Given the description of an element on the screen output the (x, y) to click on. 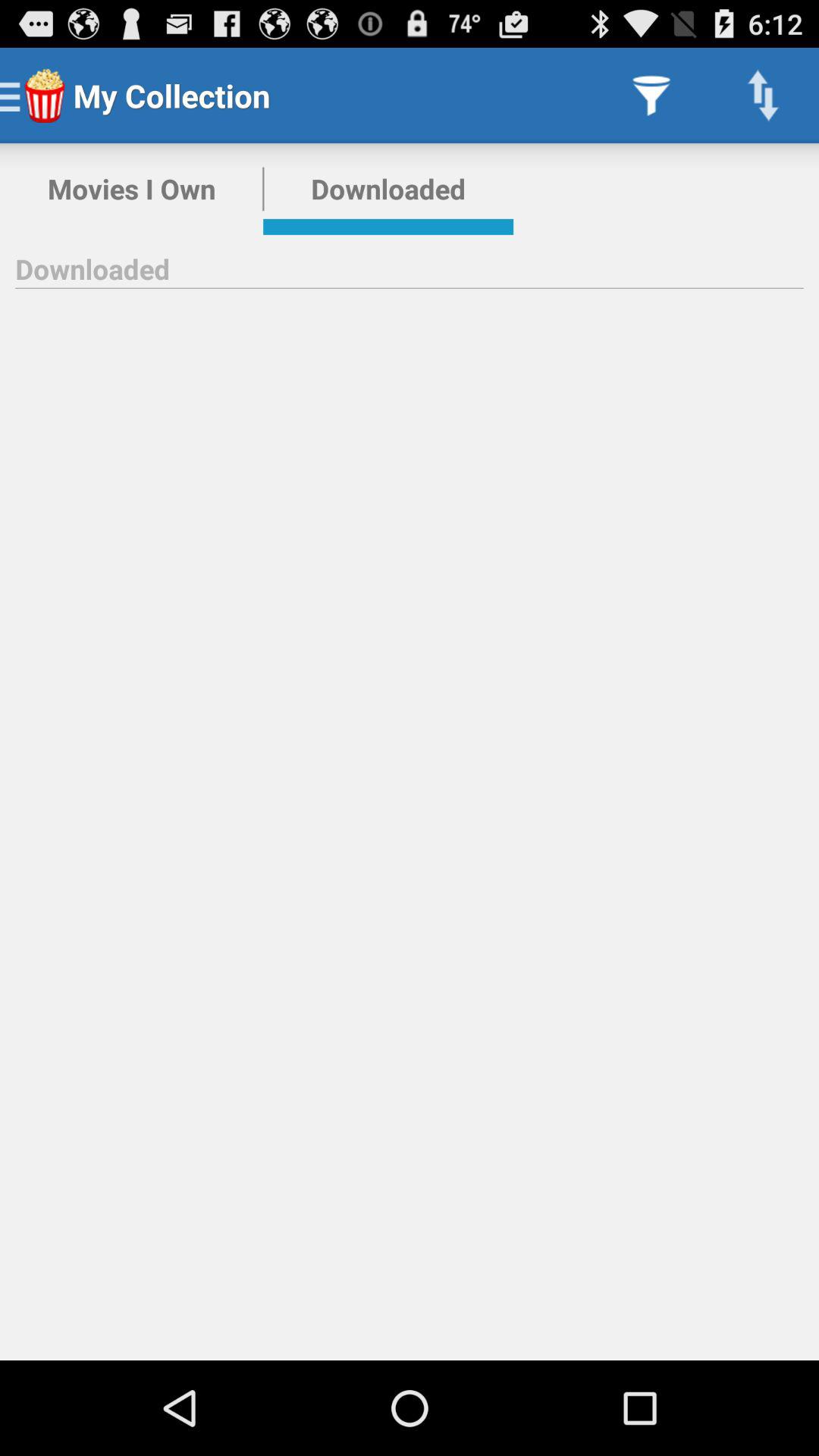
tap the icon to the right of movies i own (388, 188)
